Given the description of an element on the screen output the (x, y) to click on. 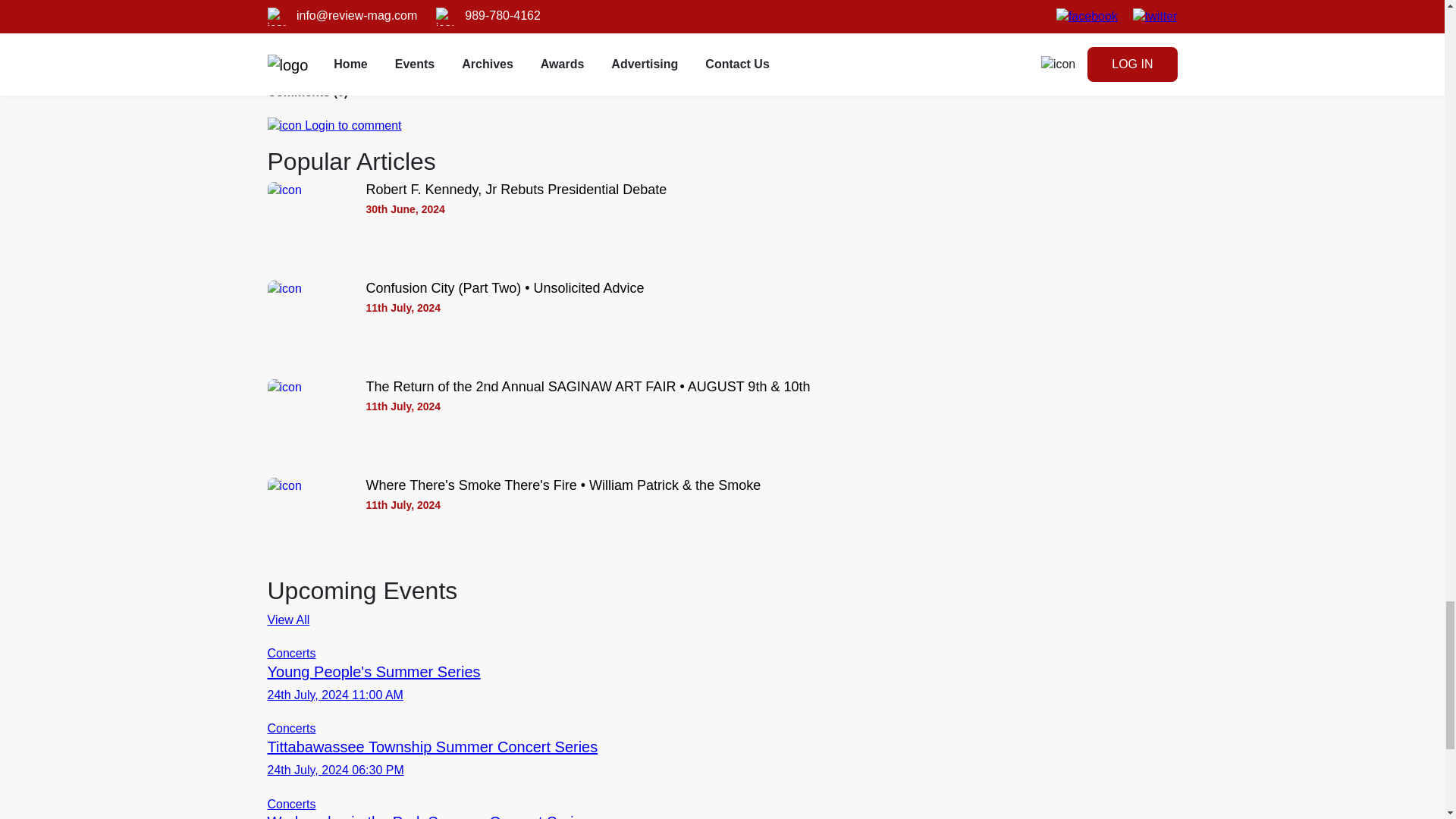
Login to comment (333, 124)
